Given the description of an element on the screen output the (x, y) to click on. 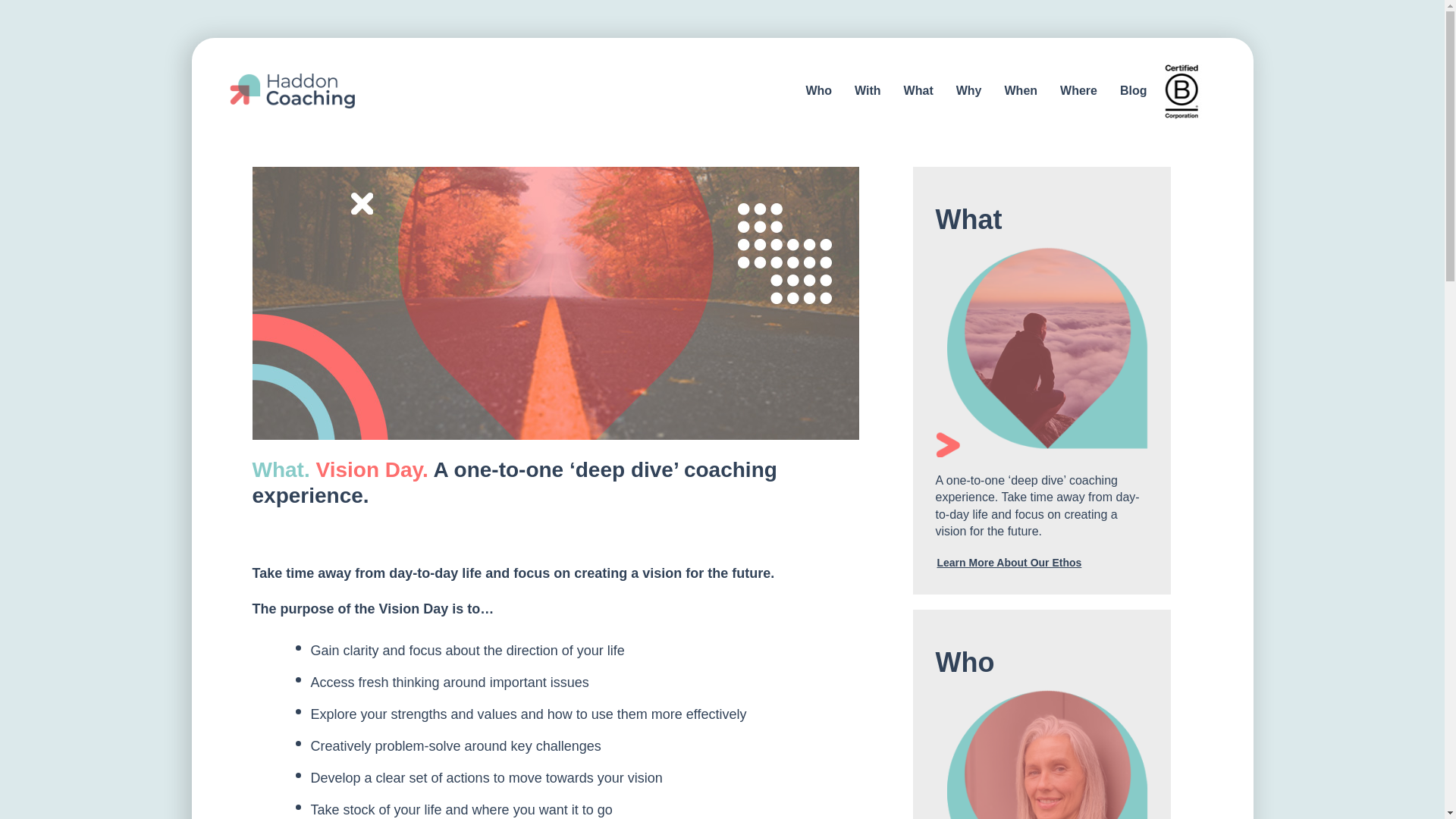
What (918, 90)
Who (818, 90)
Why (968, 90)
Blog (1133, 90)
With (867, 90)
Where (1078, 90)
When (1020, 90)
